Given the description of an element on the screen output the (x, y) to click on. 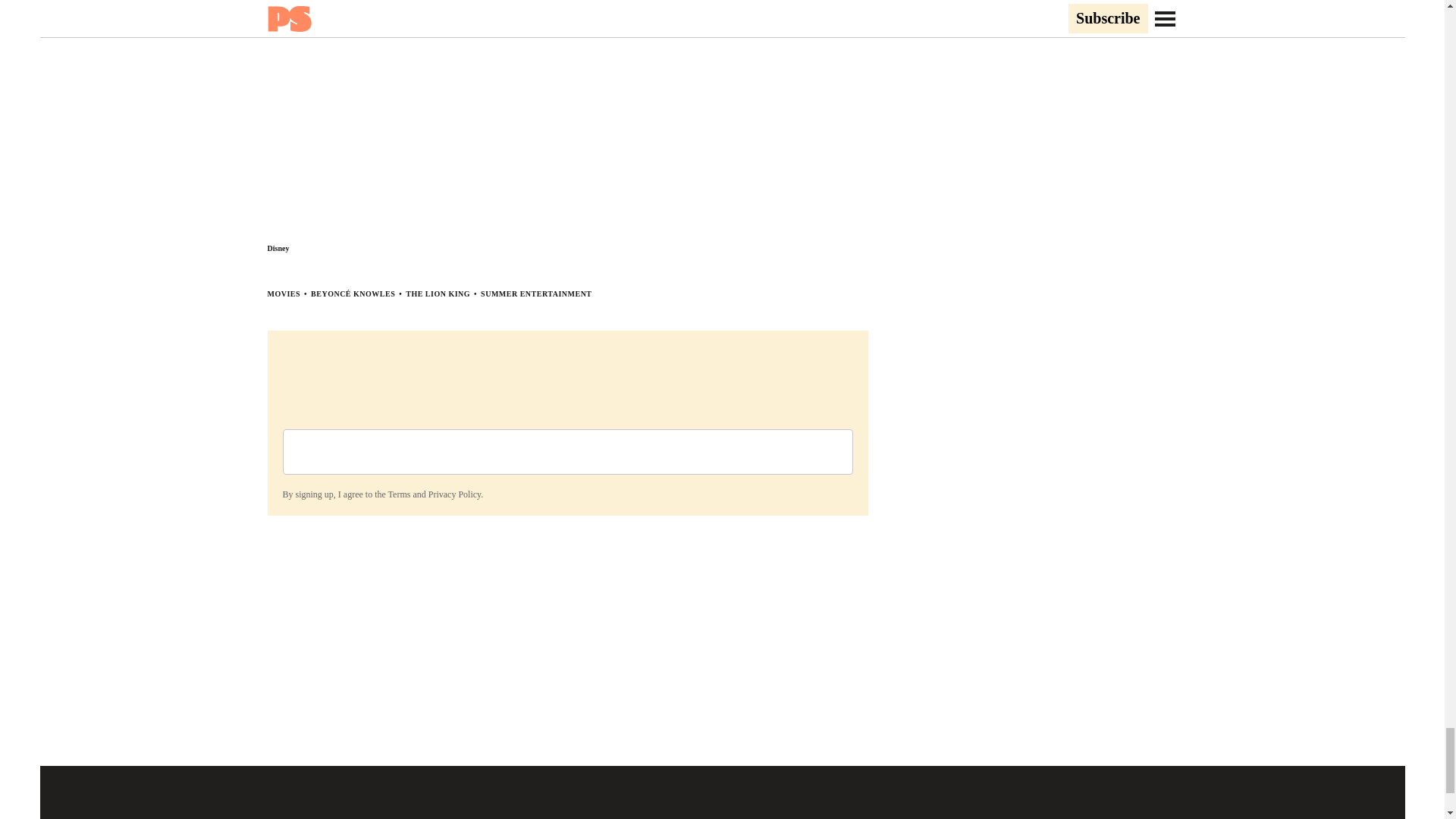
Terms (399, 493)
THE LION KING (438, 293)
MOVIES (282, 293)
SUMMER ENTERTAINMENT (535, 293)
Disney (277, 248)
Privacy Policy. (455, 493)
